Given the description of an element on the screen output the (x, y) to click on. 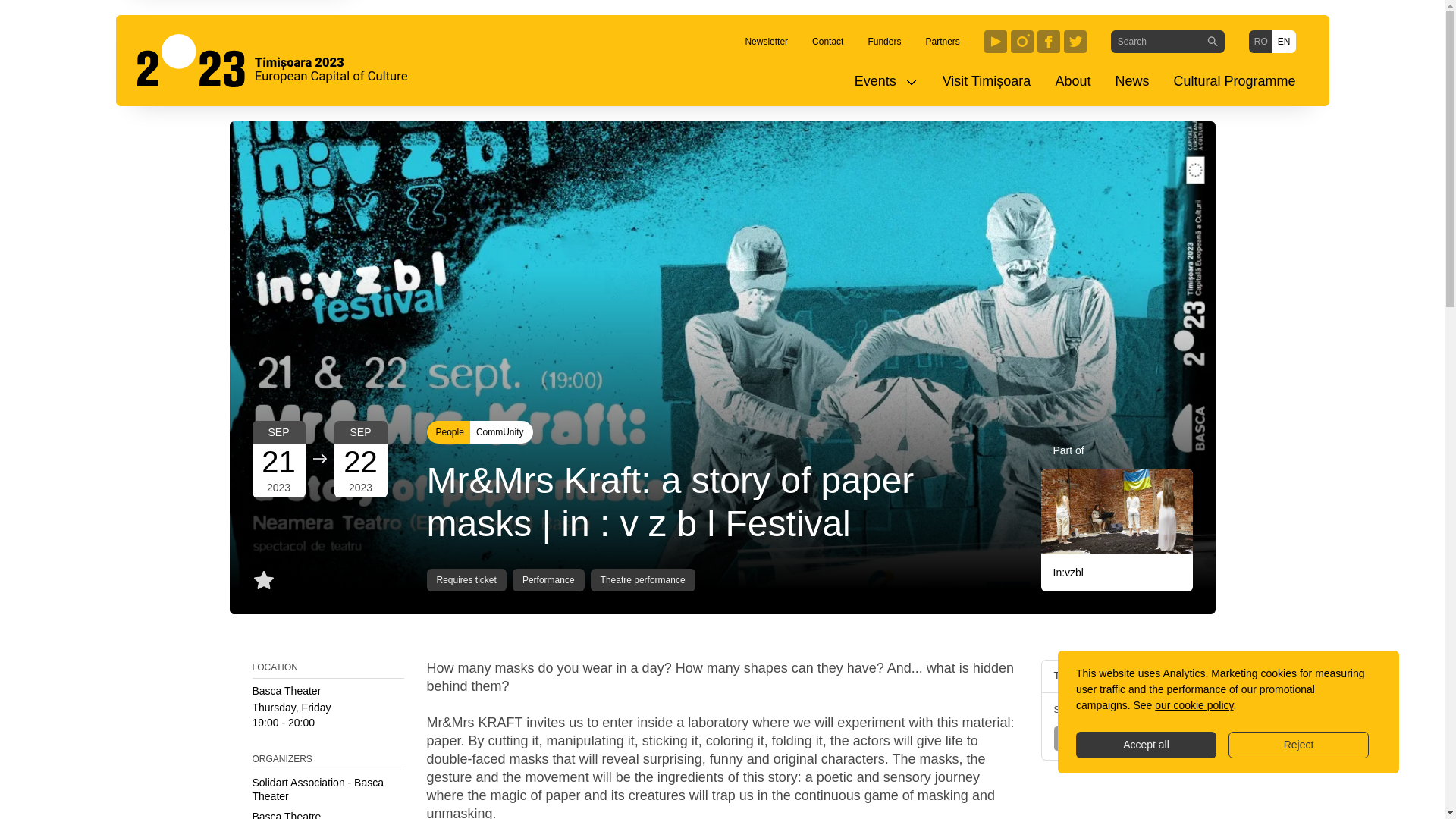
About (1072, 81)
Cultural Programme (1233, 81)
News (1131, 81)
RO (1260, 41)
Contact (827, 41)
EN (1283, 41)
Add to favorites (263, 579)
Funders (884, 41)
Partners (941, 41)
our cookie policy (1193, 705)
Newsletter (765, 41)
